Given the description of an element on the screen output the (x, y) to click on. 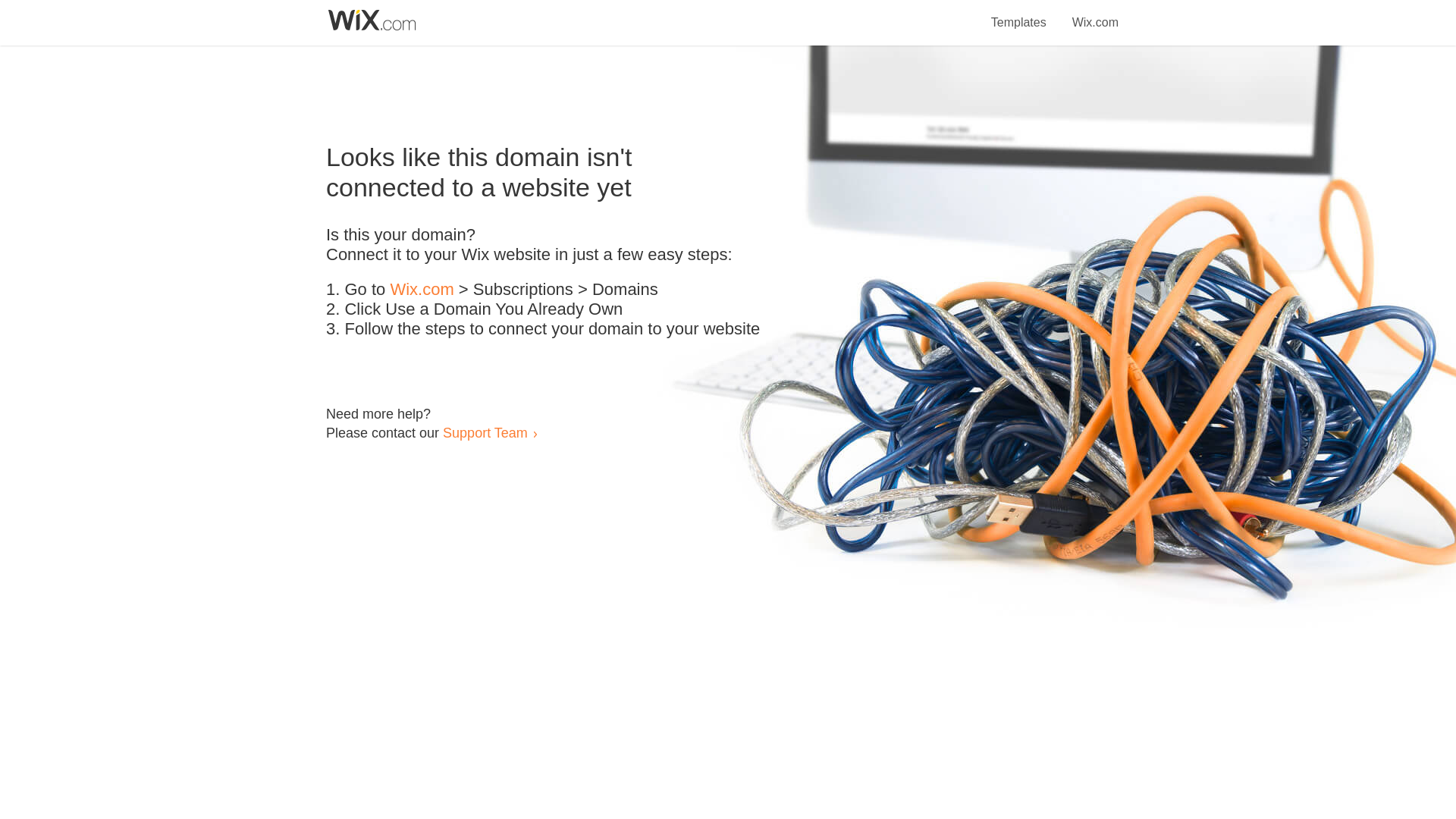
Support Team (484, 432)
Wix.com (421, 289)
Wix.com (1095, 14)
Templates (1018, 14)
